Given the description of an element on the screen output the (x, y) to click on. 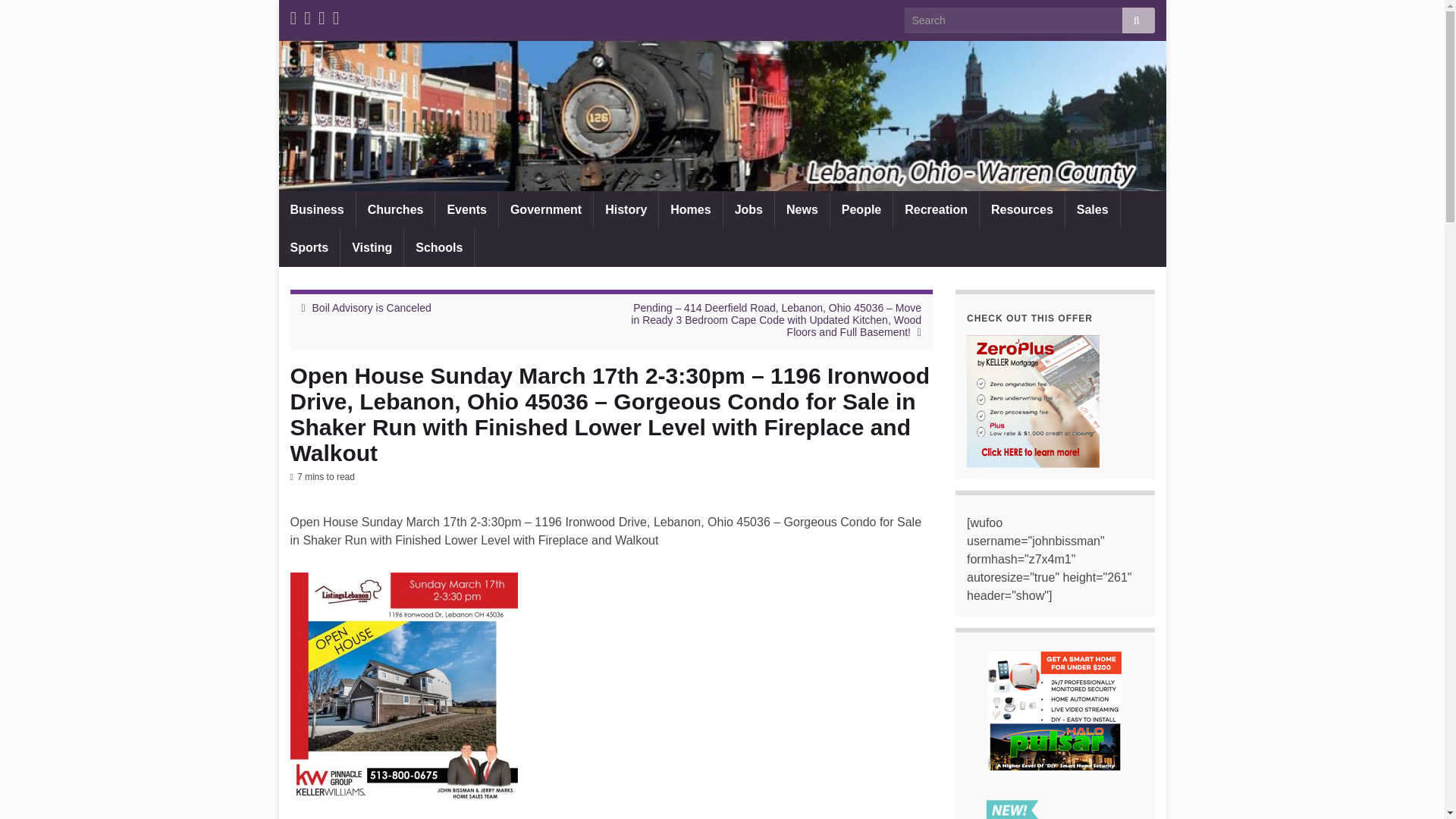
Visting (371, 247)
Jobs (748, 209)
Business (317, 209)
Events (466, 209)
Resources (1021, 209)
Churches (395, 209)
News (801, 209)
Recreation (935, 209)
Homes (690, 209)
Sports (309, 247)
